Given the description of an element on the screen output the (x, y) to click on. 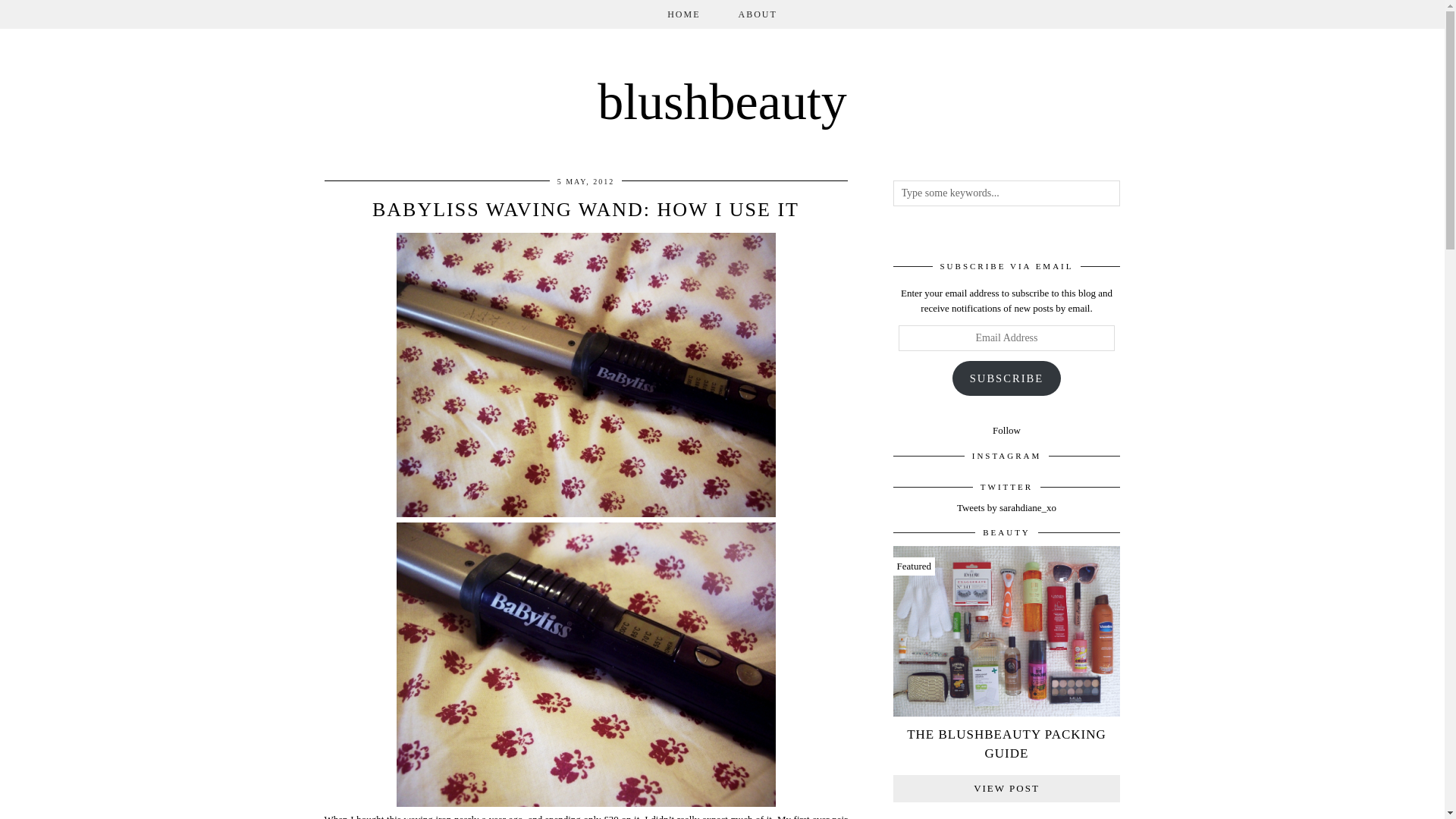
Follow (1006, 430)
VIEW POST (1007, 788)
ABOUT (756, 14)
blushbeauty (721, 101)
THE BLUSHBEAUTY PACKING GUIDE (1007, 743)
Featured (1007, 633)
SUBSCRIBE (1006, 378)
blushbeauty (721, 101)
IMGP2266 (585, 664)
HOME (683, 14)
